Given the description of an element on the screen output the (x, y) to click on. 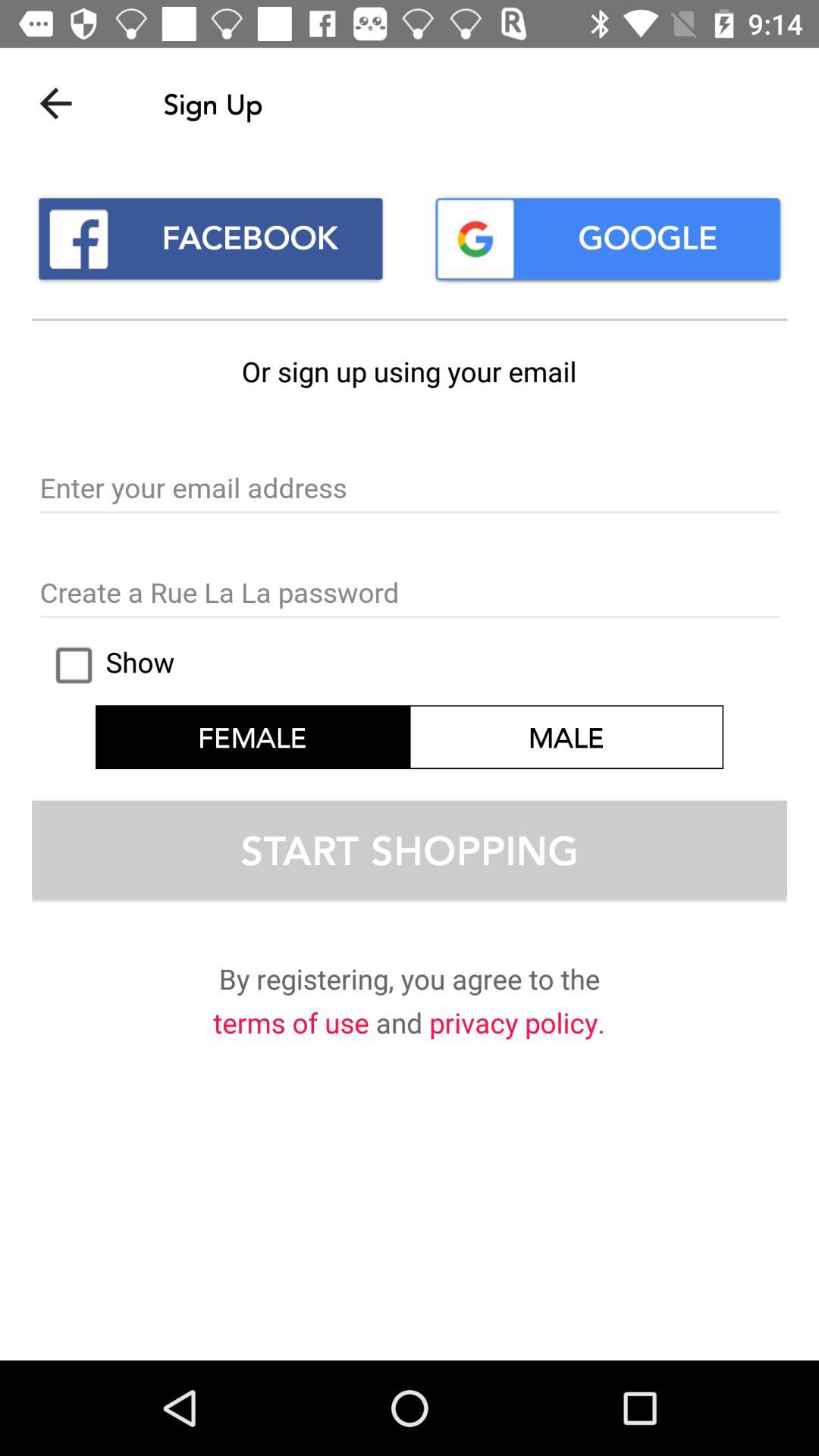
turn off icon above the start shopping icon (252, 736)
